Given the description of an element on the screen output the (x, y) to click on. 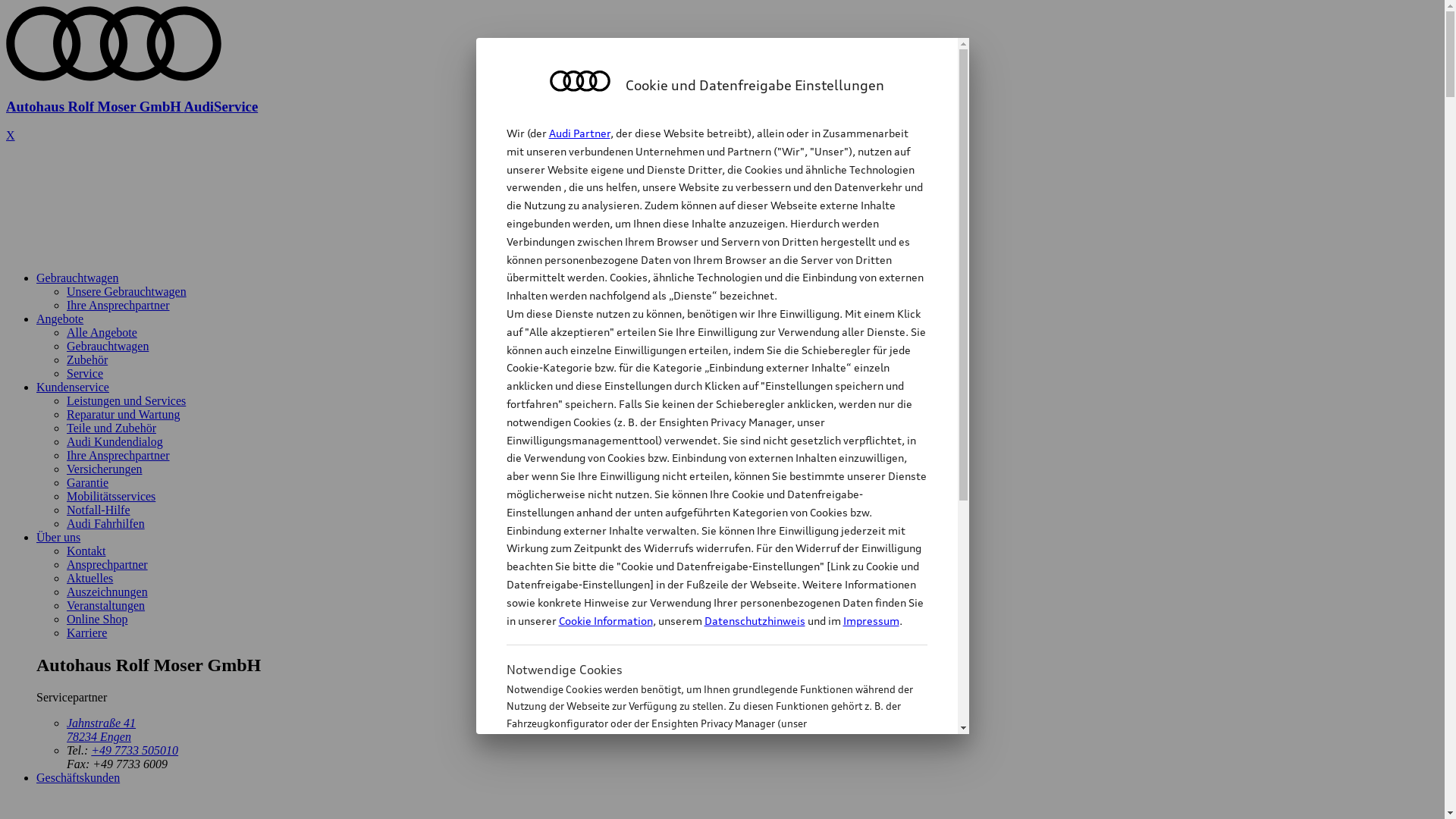
Veranstaltungen Element type: text (105, 605)
Audi Kundendialog Element type: text (114, 441)
+49 7733 505010 Element type: text (134, 749)
Autohaus Rolf Moser GmbH AudiService Element type: text (722, 92)
Leistungen und Services Element type: text (125, 400)
Online Shop Element type: text (96, 618)
Impressum Element type: text (871, 620)
Gebrauchtwagen Element type: text (77, 277)
Ihre Ansprechpartner Element type: text (117, 304)
X Element type: text (10, 134)
Kundenservice Element type: text (72, 386)
Gebrauchtwagen Element type: text (107, 345)
Ansprechpartner Element type: text (106, 564)
Karriere Element type: text (86, 632)
Cookie Information Element type: text (700, 798)
Garantie Element type: text (87, 482)
Audi Partner Element type: text (579, 132)
Service Element type: text (84, 373)
Aktuelles Element type: text (89, 577)
Cookie Information Element type: text (605, 620)
Reparatur und Wartung Element type: text (122, 413)
Kontakt Element type: text (86, 550)
Audi Fahrhilfen Element type: text (105, 523)
Ihre Ansprechpartner Element type: text (117, 454)
Angebote Element type: text (59, 318)
Unsere Gebrauchtwagen Element type: text (126, 291)
Datenschutzhinweis Element type: text (753, 620)
Alle Angebote Element type: text (101, 332)
Notfall-Hilfe Element type: text (98, 509)
Versicherungen Element type: text (104, 468)
Auszeichnungen Element type: text (106, 591)
